Given the description of an element on the screen output the (x, y) to click on. 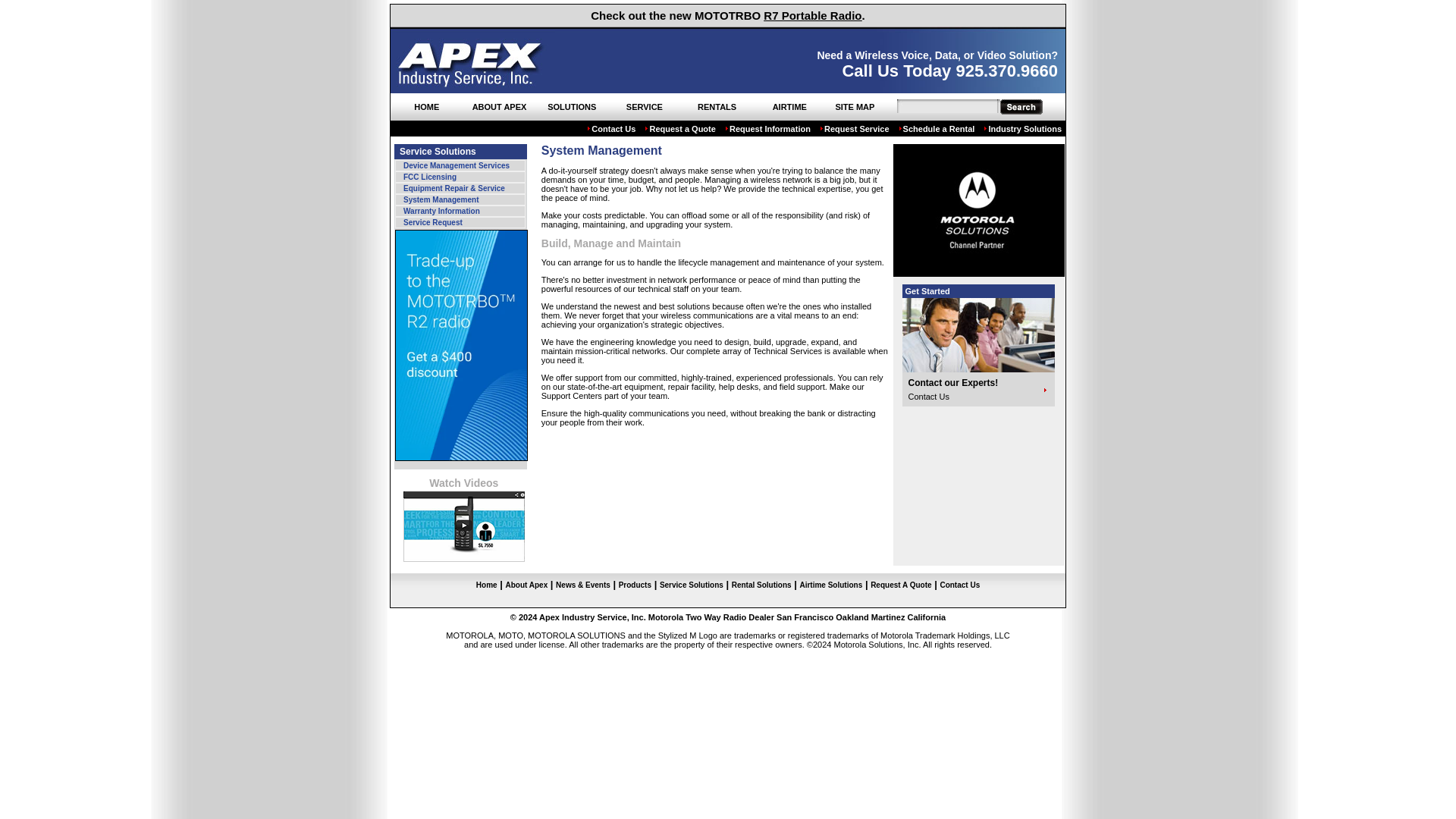
System Management (459, 199)
Products (634, 584)
Go (1021, 106)
Warranty Information (459, 211)
Request a Quote (683, 128)
Service Solutions (691, 584)
Request A Quote (900, 584)
R7 Portable Radio (811, 15)
HOME (426, 106)
SERVICE (644, 106)
